Given the description of an element on the screen output the (x, y) to click on. 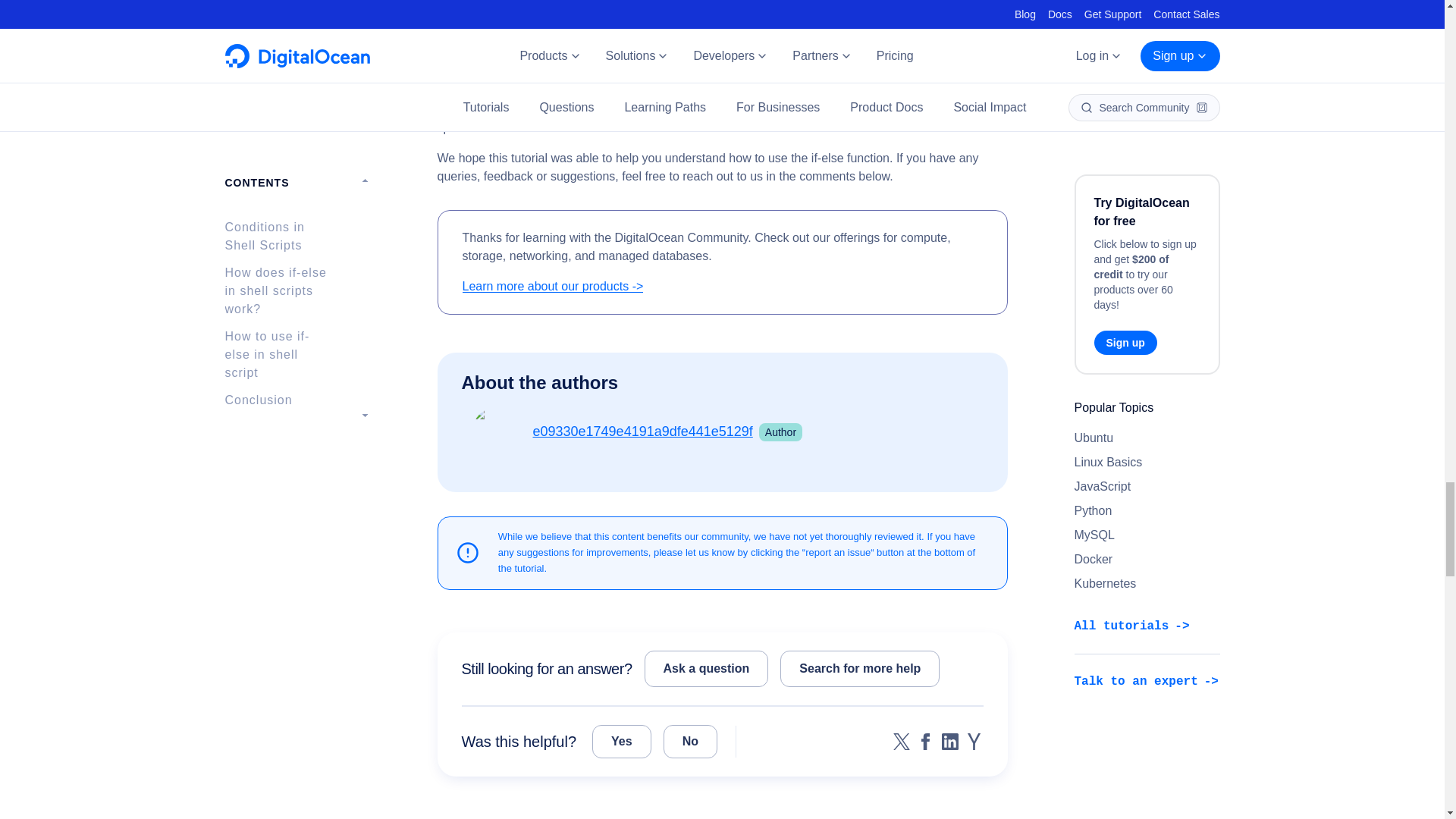
Share to YCombinator (972, 741)
Share to LinkedIn (949, 741)
Share to Facebook (924, 741)
